Given the description of an element on the screen output the (x, y) to click on. 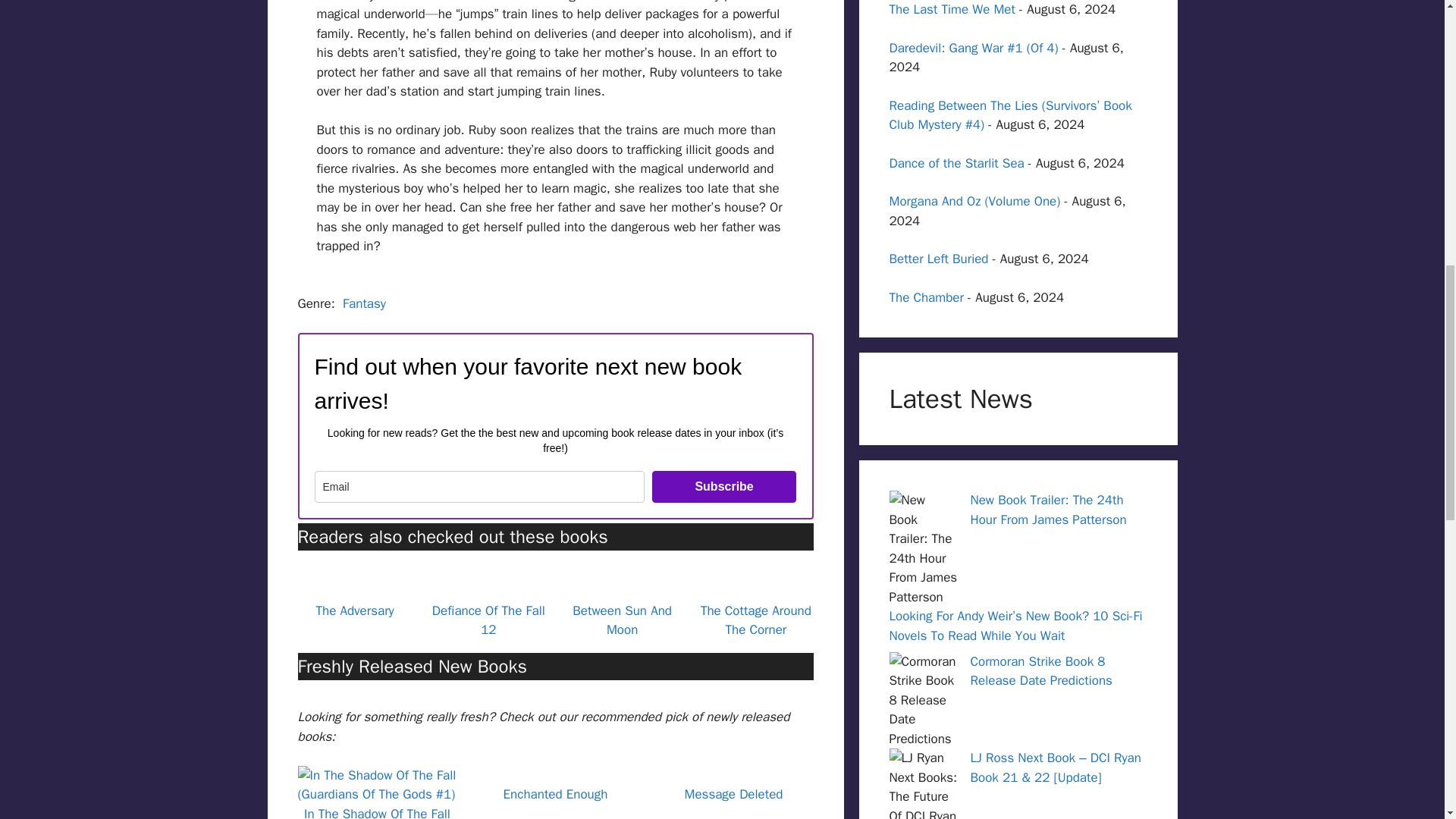
Fantasy (363, 303)
Scroll back to top (1406, 720)
Enchanted Enough (555, 794)
The Adversary (354, 609)
The Cottage Around The Corner (755, 619)
Defiance Of The Fall 12 (488, 619)
Subscribe (724, 486)
Between Sun And Moon (621, 619)
